Given the description of an element on the screen output the (x, y) to click on. 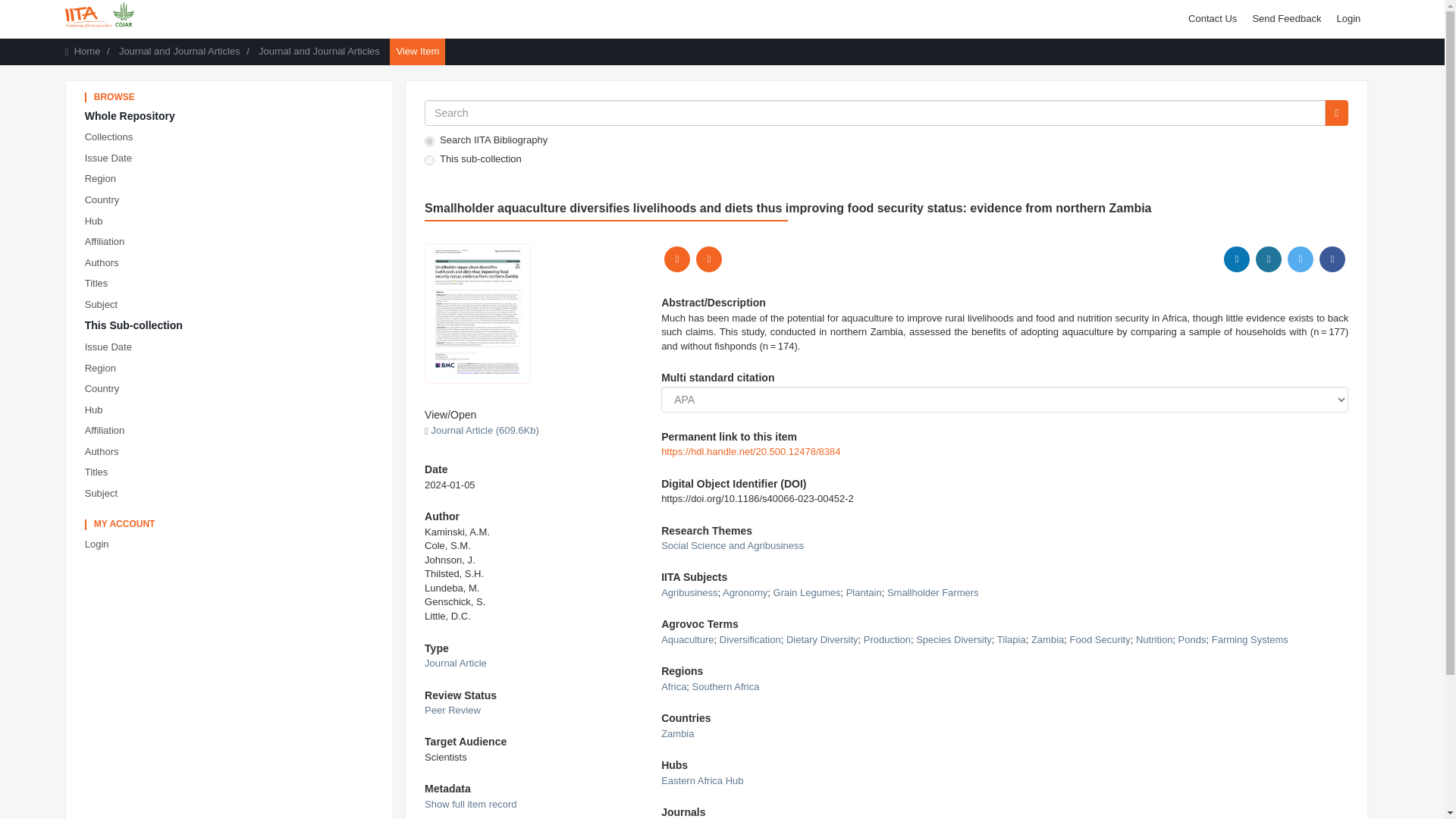
Share on LinkedIn (1236, 258)
This Sub-collection (232, 326)
Hub (232, 221)
Journal Article (455, 663)
Region (232, 179)
Login (232, 544)
Journal and Journal Articles (319, 50)
Home (87, 50)
Authors (232, 452)
Issue Date (232, 158)
